Given the description of an element on the screen output the (x, y) to click on. 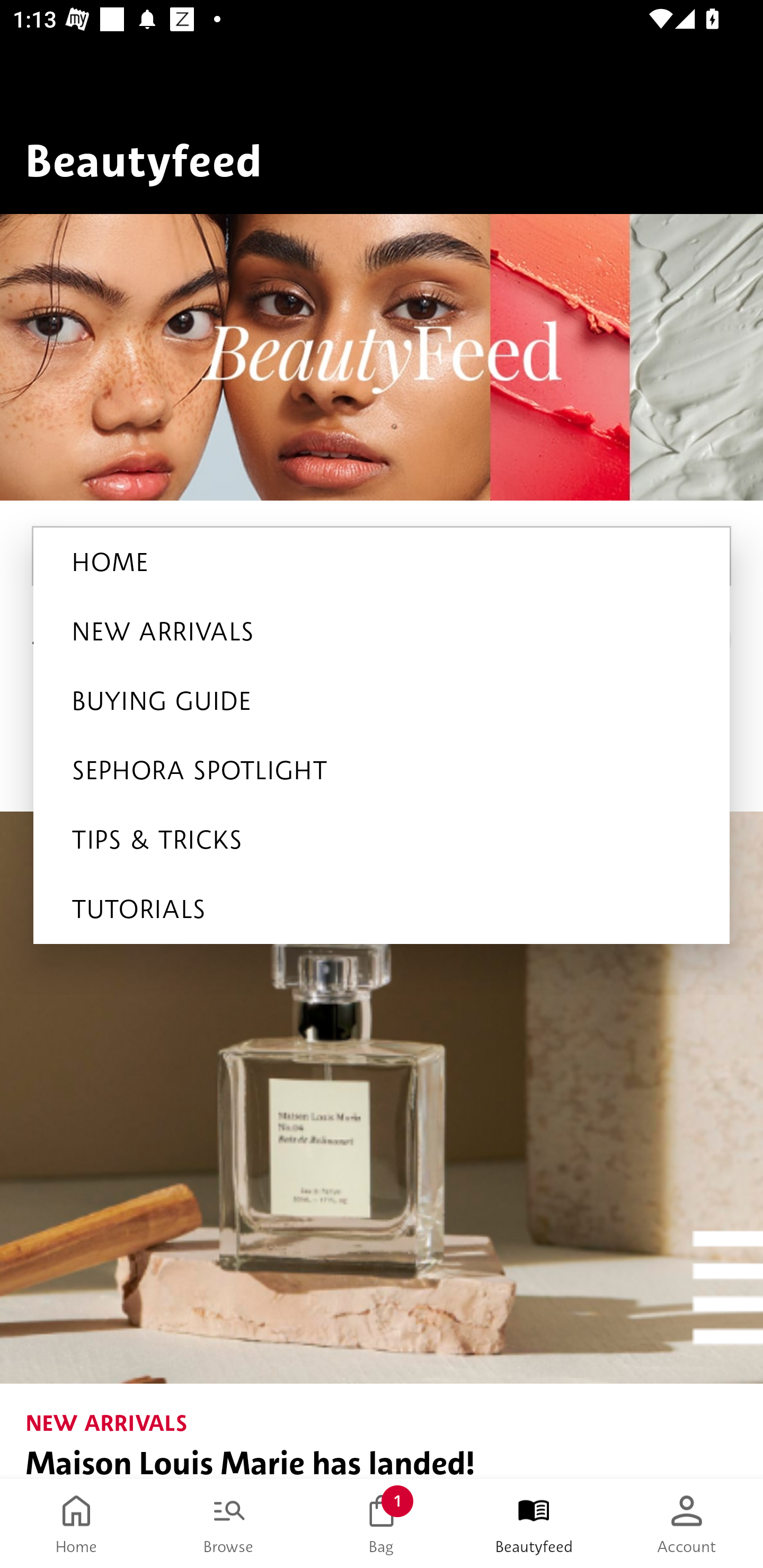
HOME (381, 561)
NEW ARRIVALS (381, 631)
BUYING GUIDE (381, 700)
SEPHORA SPOTLIGHT (381, 770)
TIPS & TRICKS (381, 839)
TUTORIALS (381, 908)
